Given the description of an element on the screen output the (x, y) to click on. 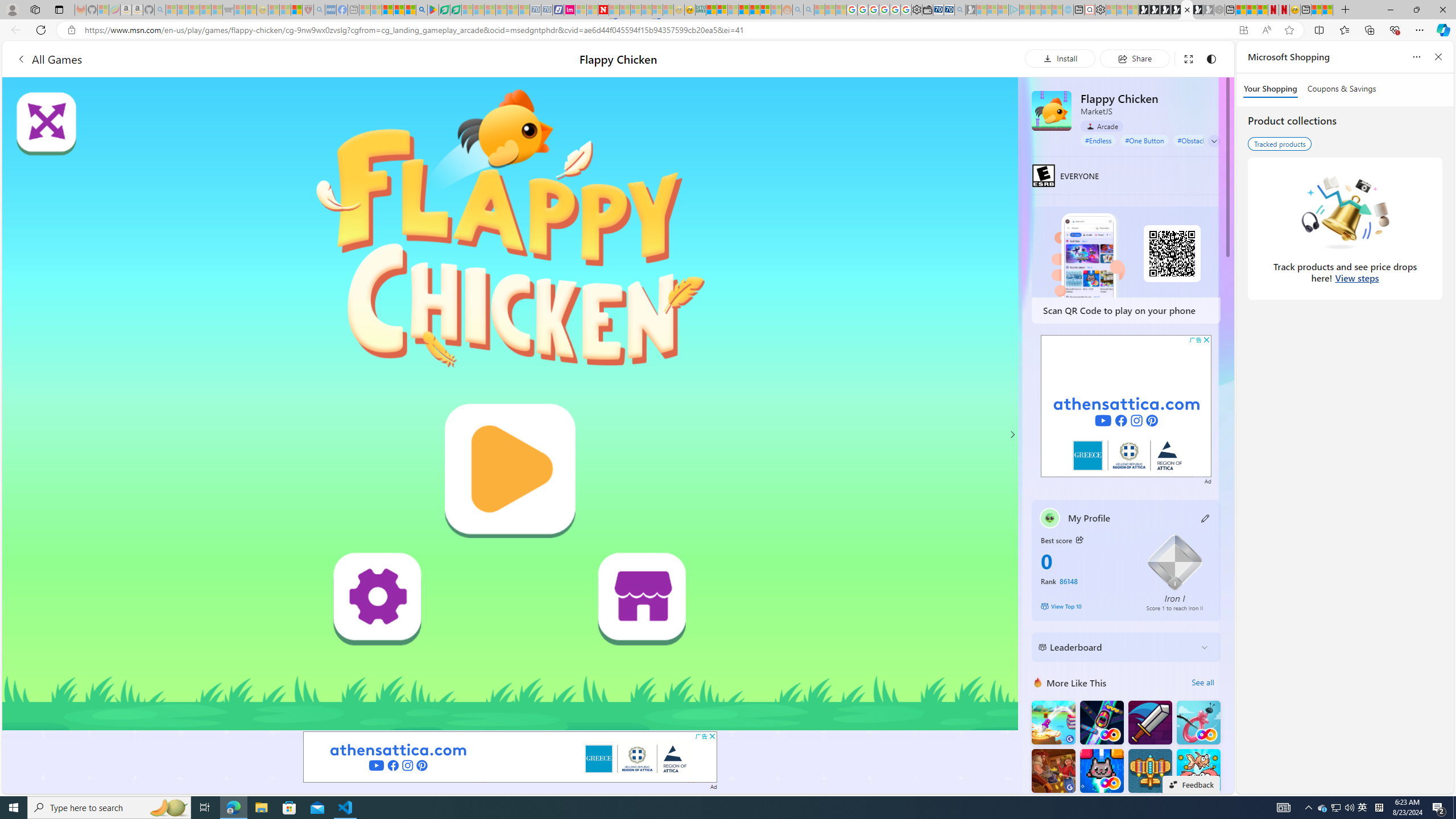
Class: button edit-icon (1205, 517)
Install (1060, 58)
Balloon FRVR (1198, 722)
